Given the description of an element on the screen output the (x, y) to click on. 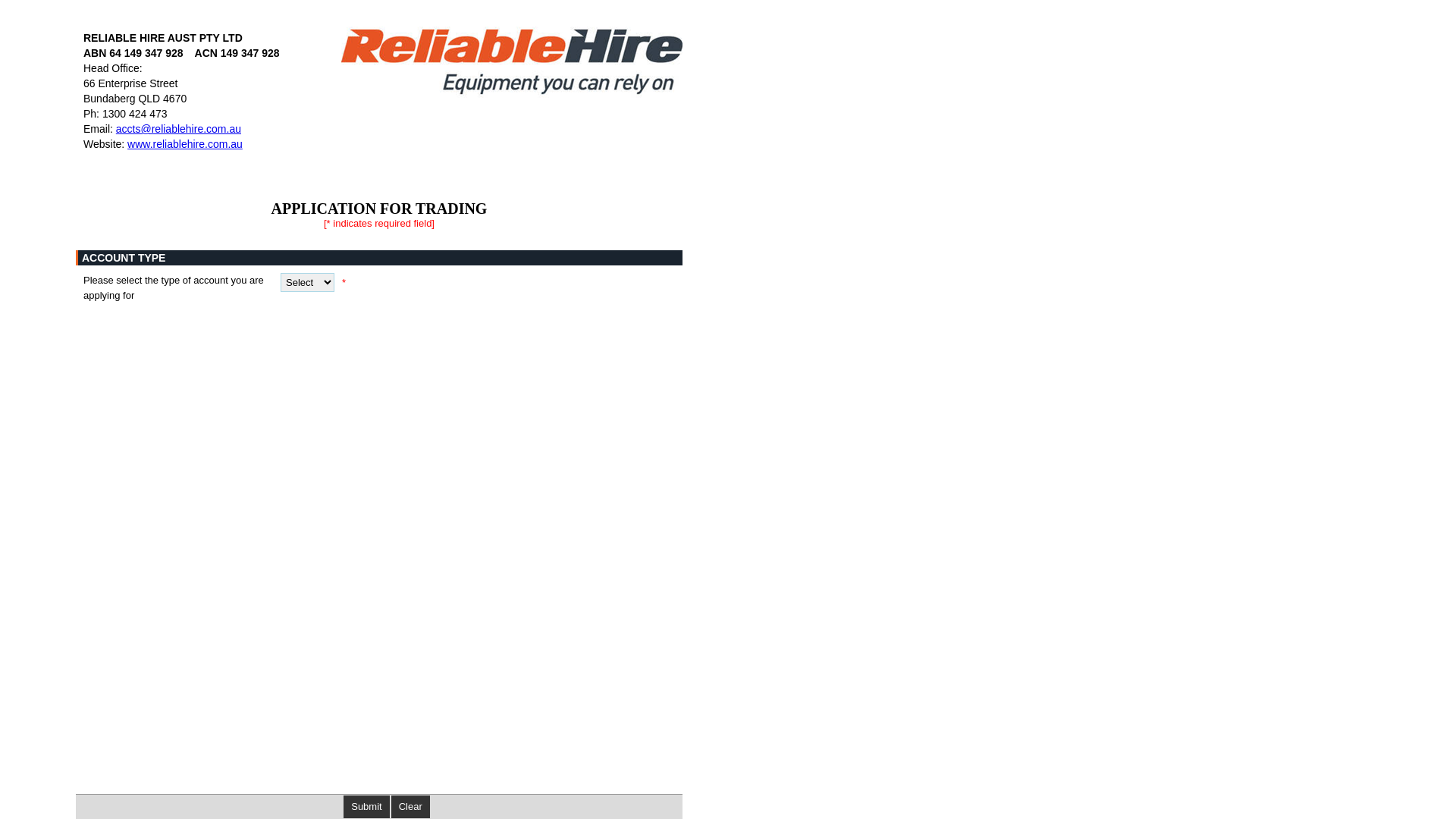
header.png Element type: hover (500, 61)
www.reliablehire.com.au Element type: text (184, 144)
Submit Element type: text (366, 806)
accts@reliablehire.com.au Element type: text (178, 128)
Clear Element type: text (410, 806)
